Given the description of an element on the screen output the (x, y) to click on. 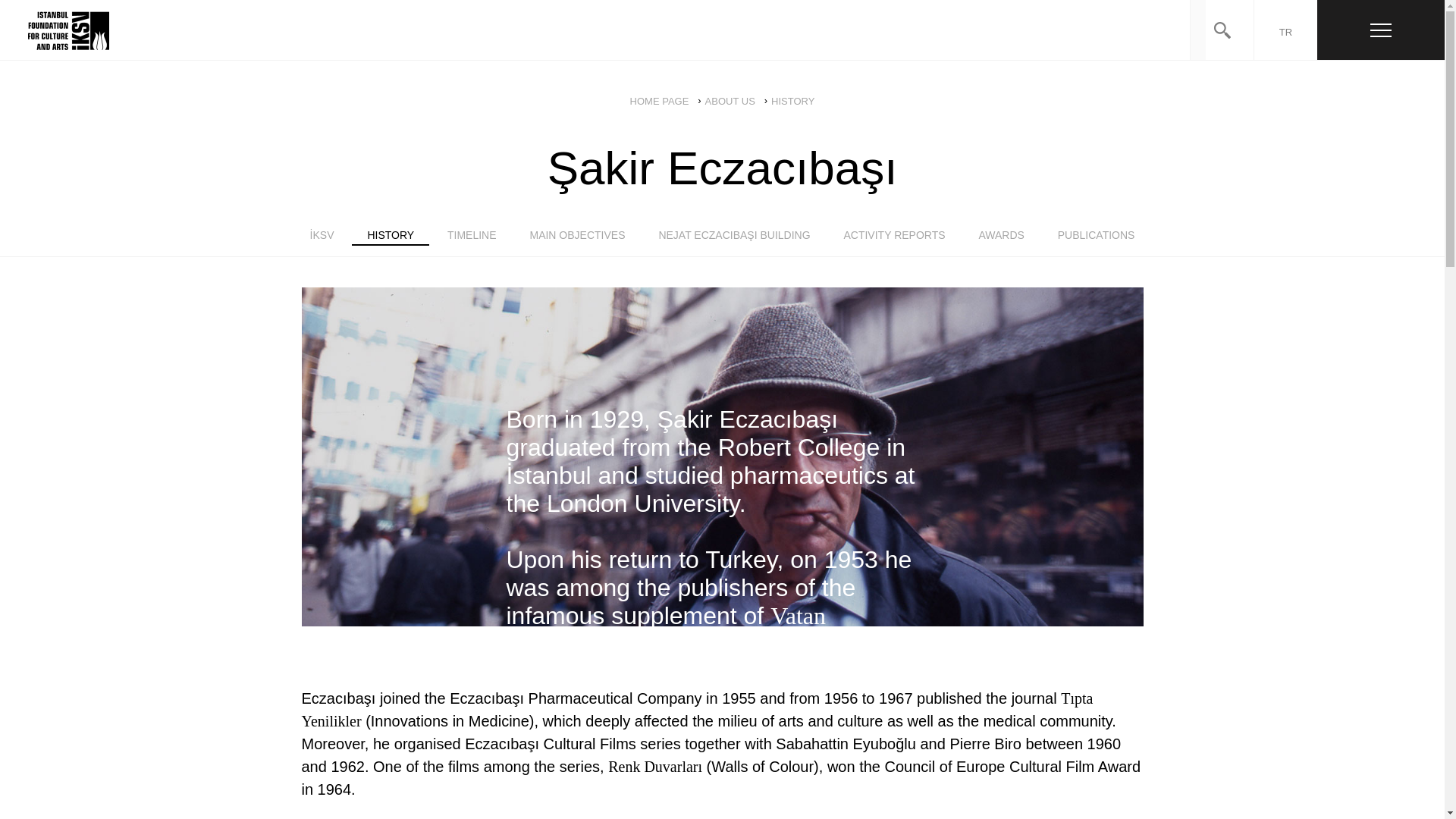
Awards (1000, 242)
PUBLICATIONS (1096, 242)
Timeline (472, 242)
Main Objectives (576, 242)
TR (1285, 29)
History (390, 242)
Activity Reports (893, 242)
